Given the description of an element on the screen output the (x, y) to click on. 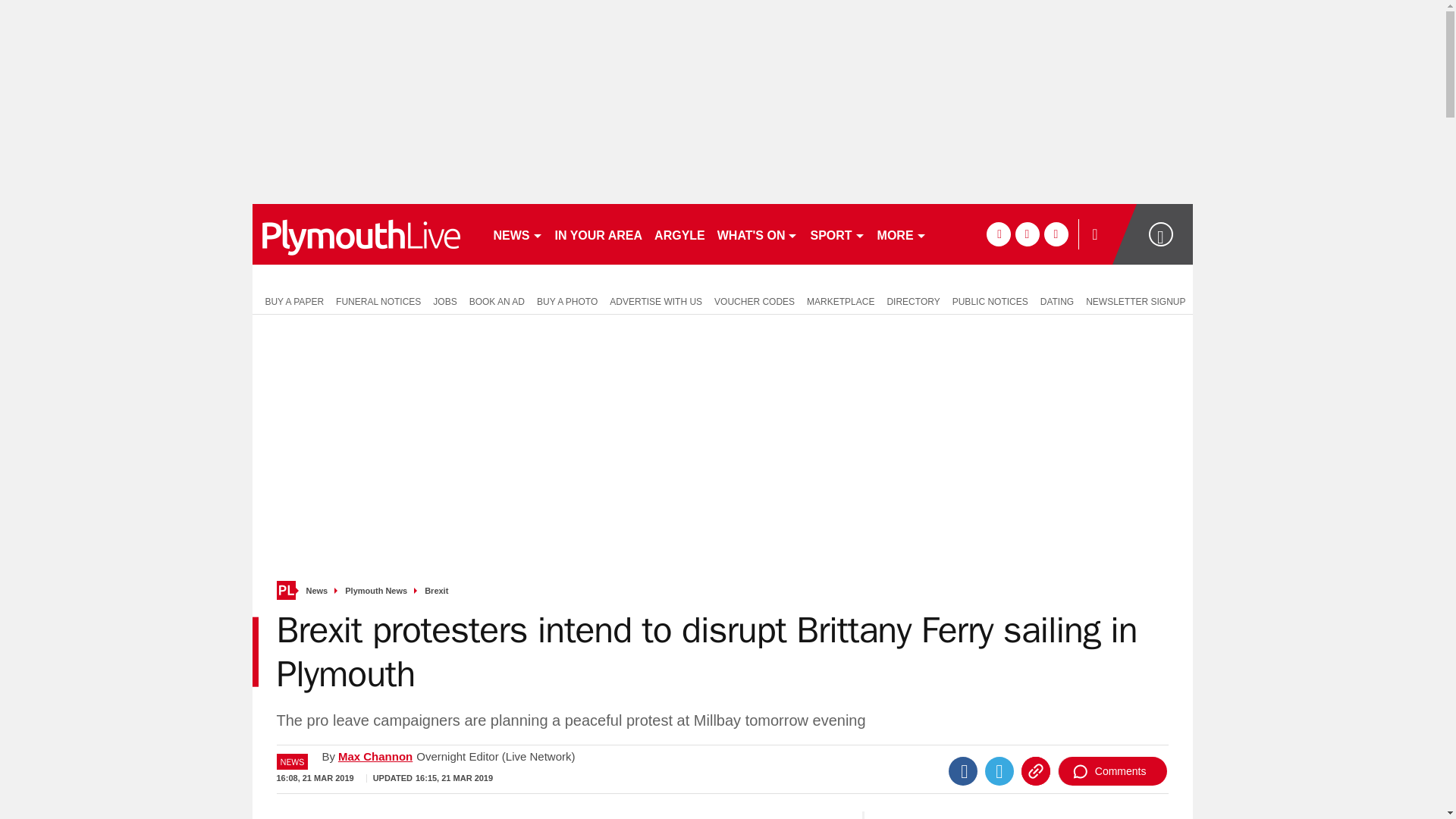
IN YOUR AREA (598, 233)
NEWS (517, 233)
Comments (1112, 770)
ARGYLE (679, 233)
WHAT'S ON (758, 233)
Twitter (999, 770)
twitter (1026, 233)
instagram (1055, 233)
facebook (997, 233)
plymouthherald (365, 233)
SPORT (836, 233)
Facebook (962, 770)
MORE (901, 233)
